Given the description of an element on the screen output the (x, y) to click on. 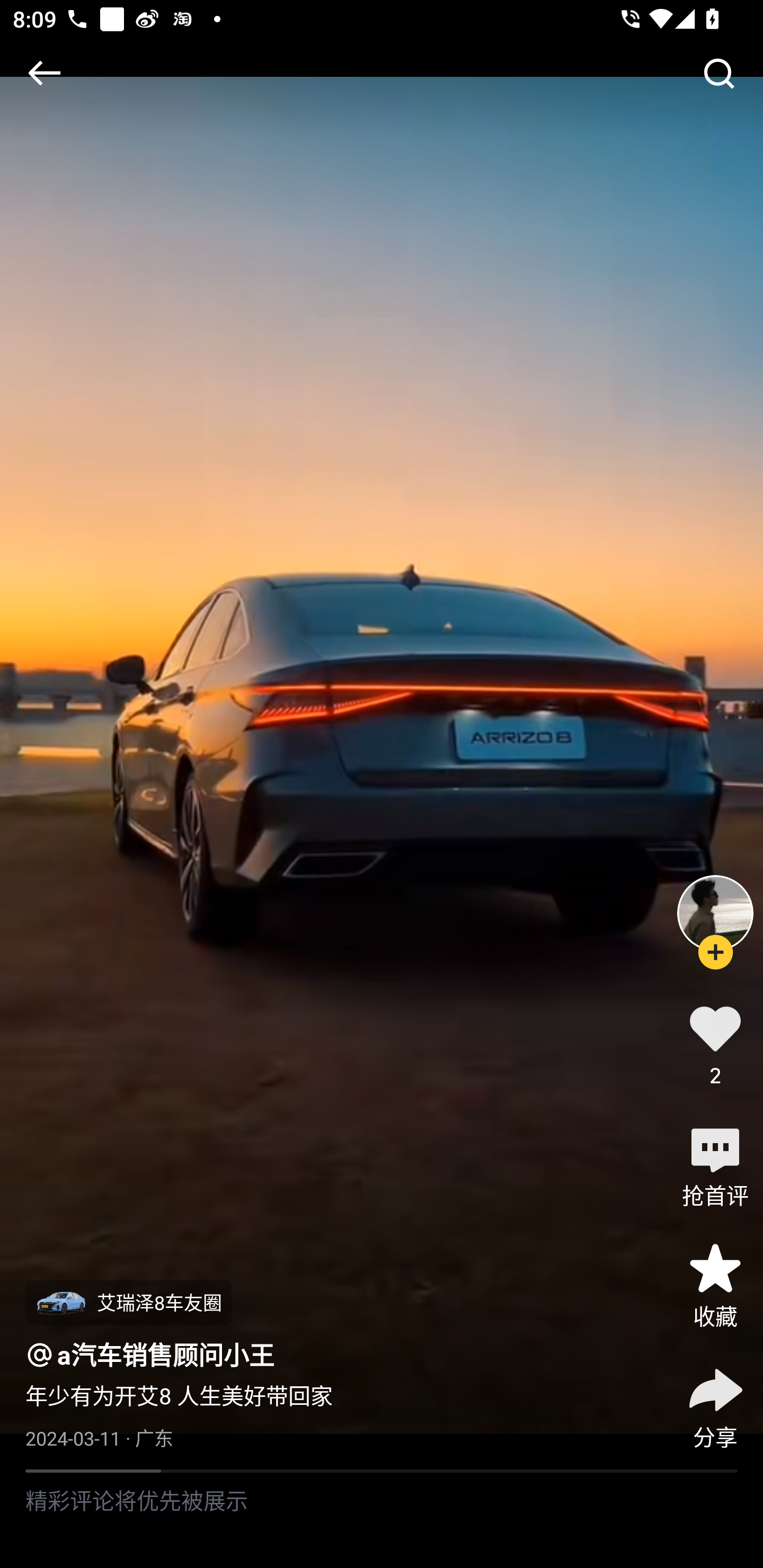
 (44, 72)
 (718, 72)
抢首评 (715, 1164)
收藏 (715, 1284)
艾瑞泽8车友圈 (128, 1302)
a汽车销售顾问小王 (165, 1354)
分享 (715, 1405)
年少有为开艾8 人生美好带回家 (178, 1395)
精彩评论将优先被展示 (381, 1520)
